Given the description of an element on the screen output the (x, y) to click on. 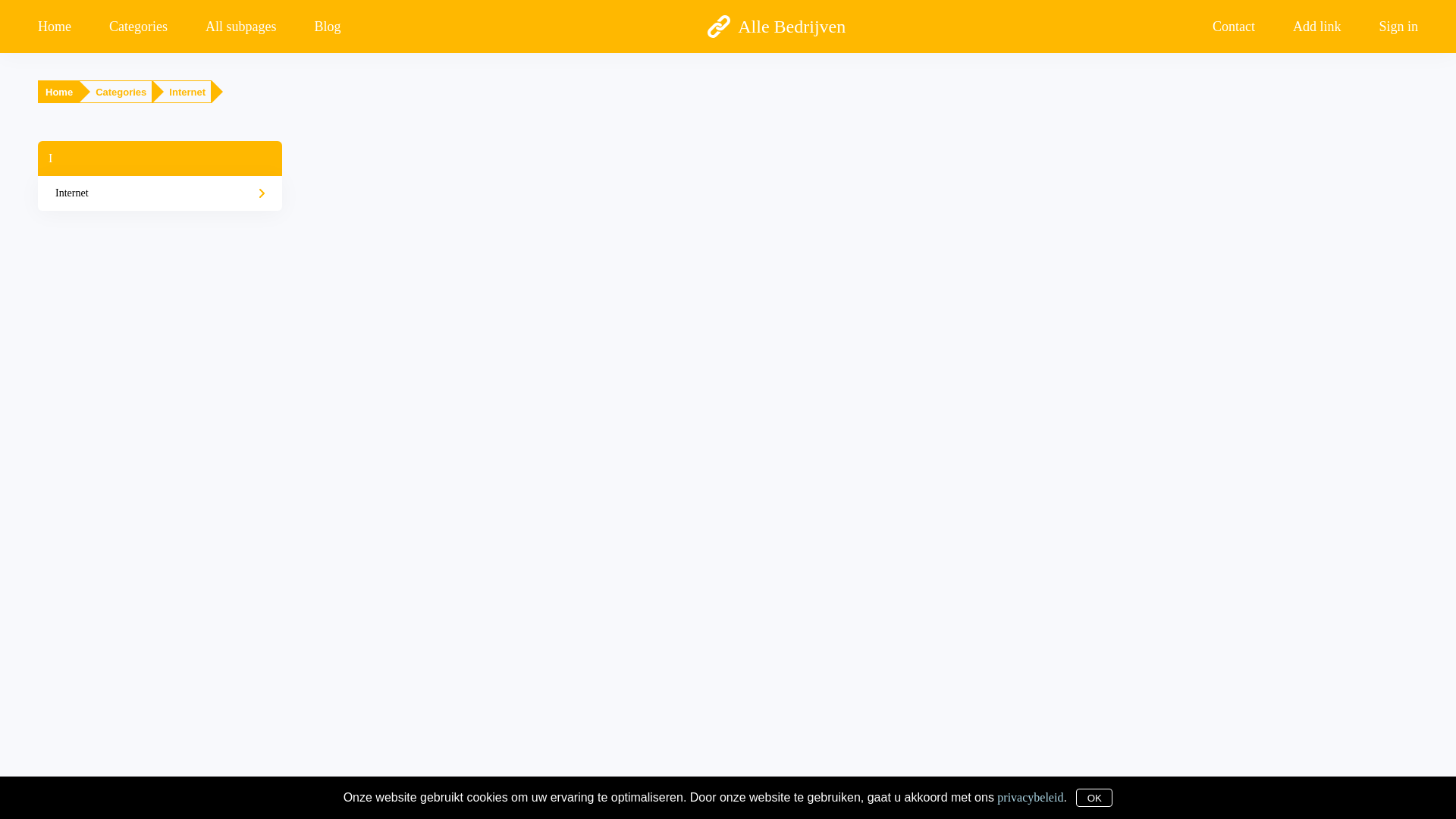
Home Element type: text (63, 25)
allebedrijven.be Element type: text (655, 803)
Privacy Policy Element type: text (716, 803)
Blog Element type: text (326, 25)
Categories Element type: text (138, 25)
Home Element type: text (58, 91)
privacybeleid Element type: text (1030, 796)
Internet Element type: text (159, 192)
Alle Bedrijven Element type: text (775, 26)
Terms & Conditions Element type: text (787, 803)
All subpages Element type: text (240, 25)
Contact Element type: text (845, 803)
Sign in Element type: text (1388, 25)
Categories Element type: text (120, 91)
Add link Element type: text (1317, 25)
Contact Element type: text (1233, 25)
Internet Element type: text (187, 91)
OK Element type: text (1094, 797)
